Given the description of an element on the screen output the (x, y) to click on. 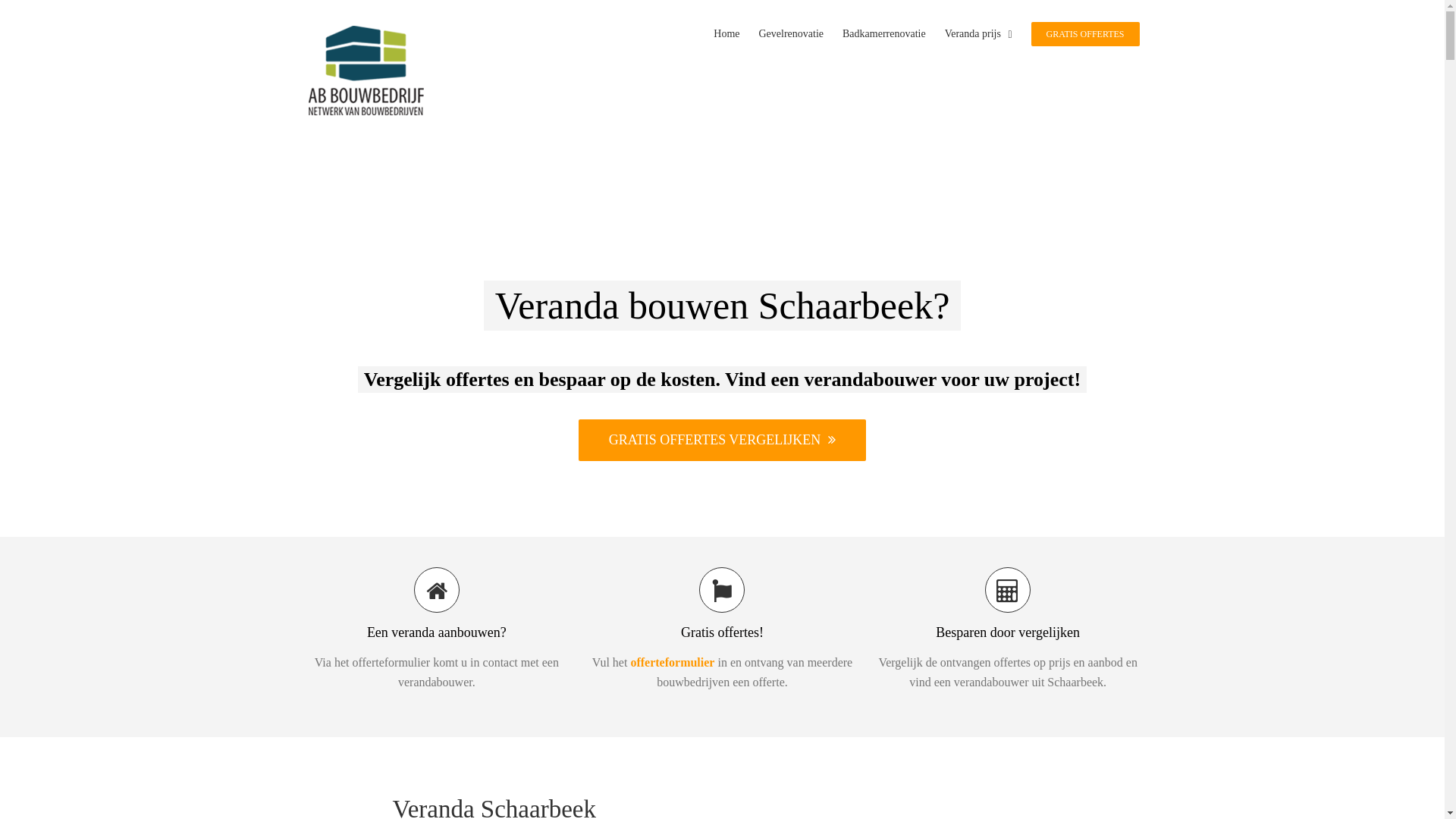
Gratis offertes! Element type: text (721, 604)
GRATIS OFFERTES VERGELIJKEN Element type: text (722, 440)
Home Element type: text (726, 32)
Gevelrenovatie Element type: text (790, 32)
Veranda prijs Element type: text (978, 32)
offerteformulier Element type: text (672, 661)
Badkamerrenovatie Element type: text (883, 32)
Besparen door vergelijken Element type: text (1007, 604)
Een veranda aanbouwen? Element type: text (435, 604)
GRATIS OFFERTES Element type: text (1085, 32)
